Given the description of an element on the screen output the (x, y) to click on. 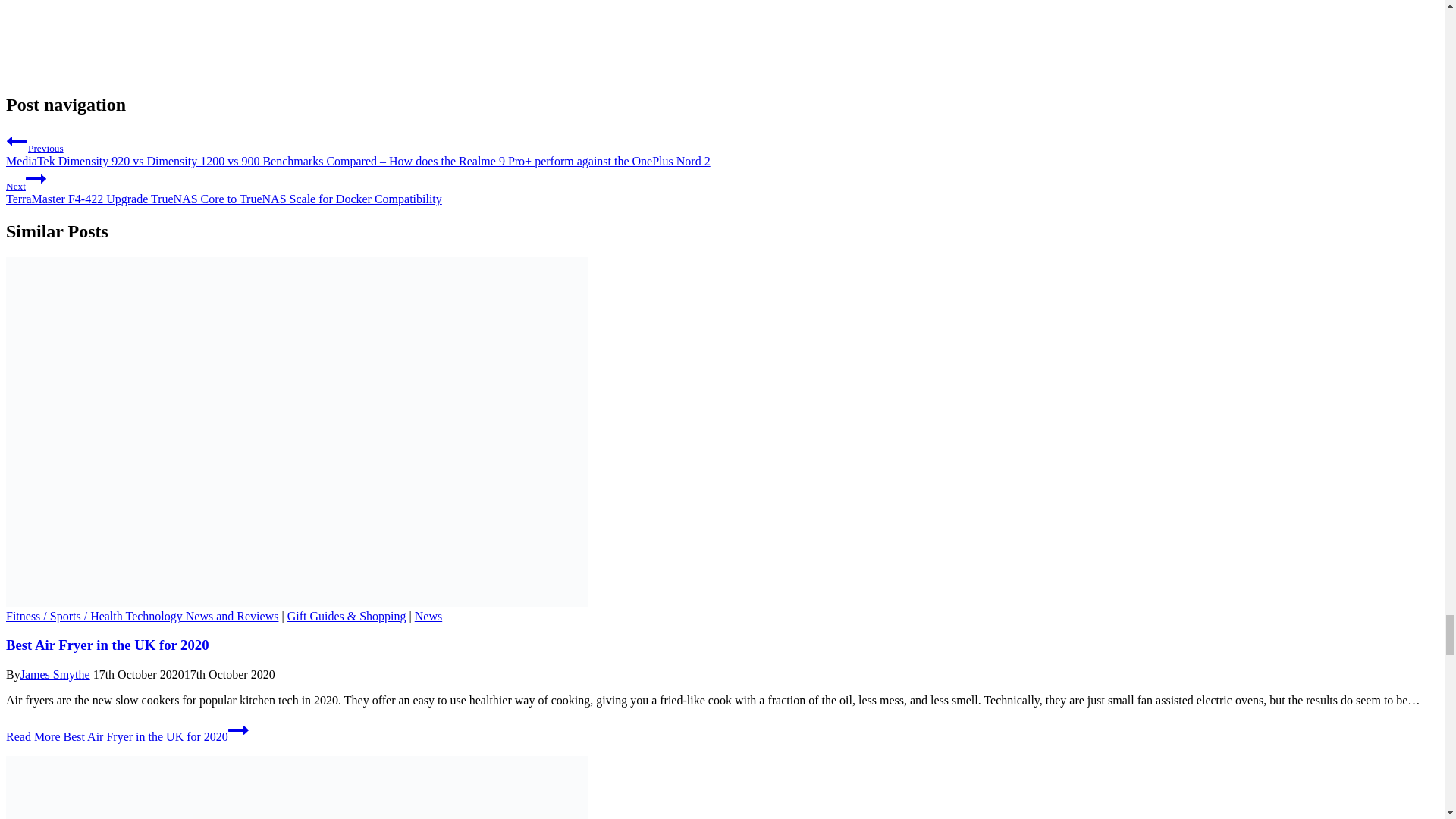
Continue (238, 730)
Previous (16, 140)
Continue (36, 178)
